Given the description of an element on the screen output the (x, y) to click on. 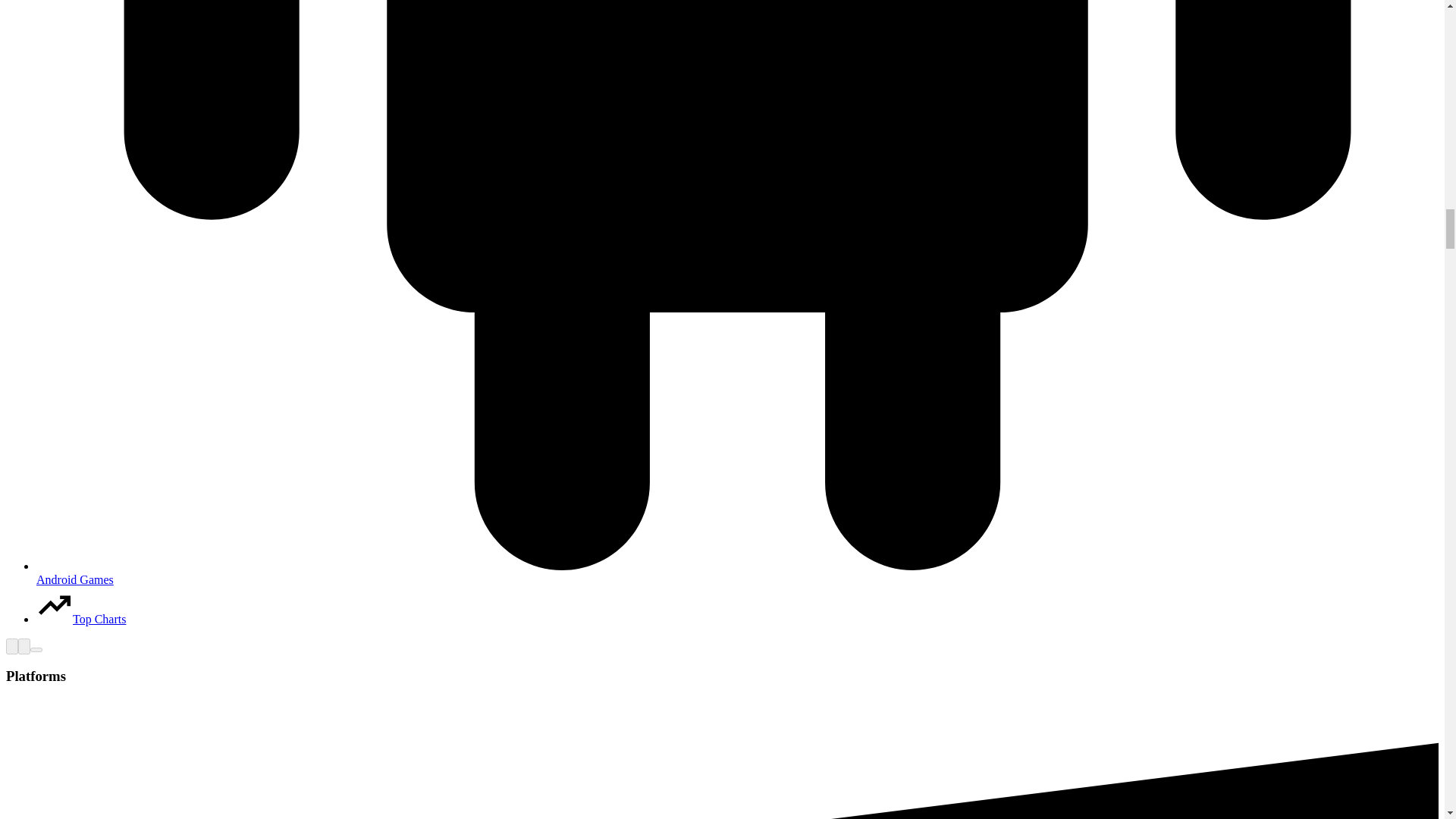
Change site theme (23, 646)
Top Charts (80, 618)
